Given the description of an element on the screen output the (x, y) to click on. 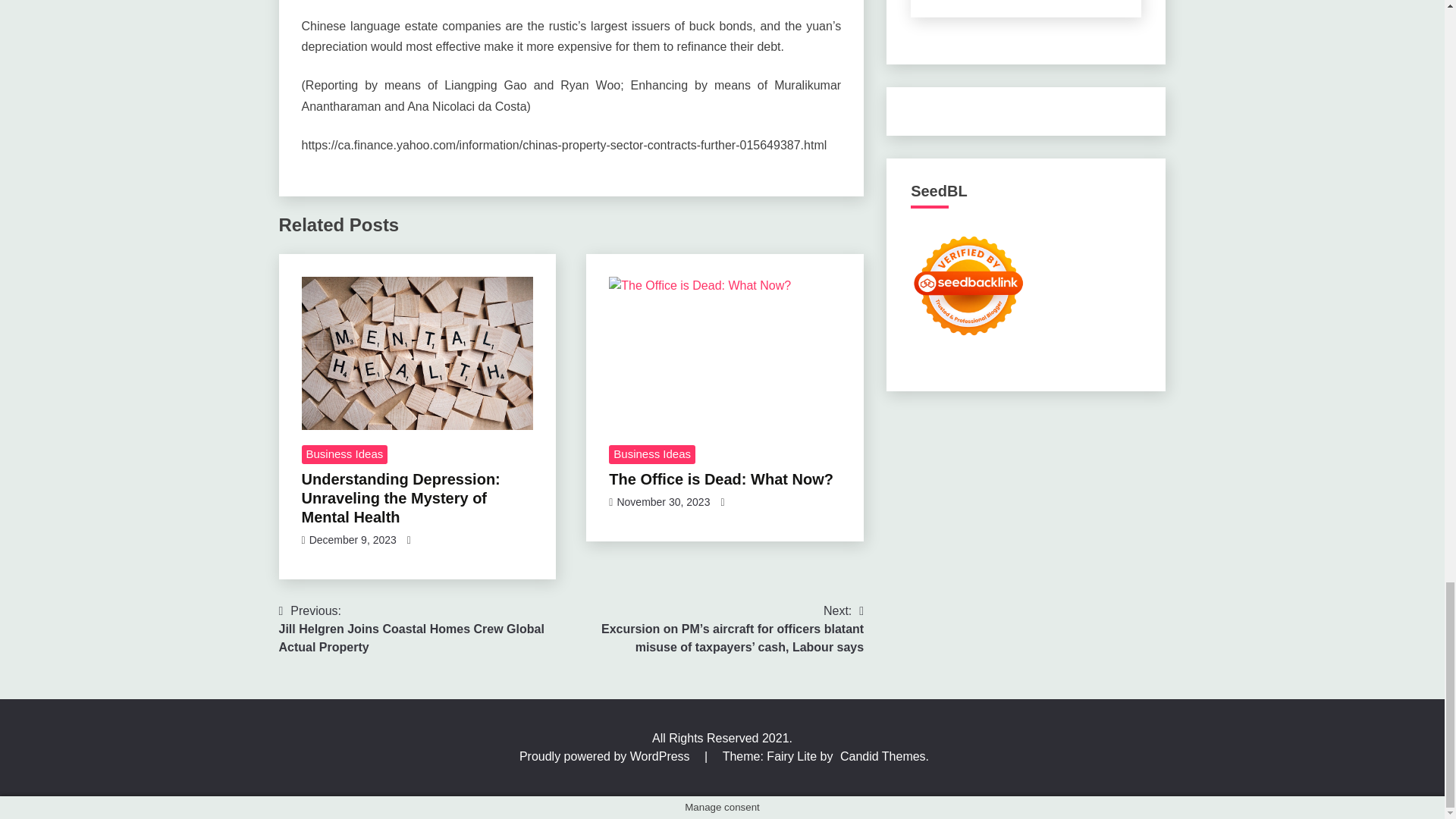
December 9, 2023 (352, 539)
November 30, 2023 (662, 501)
The Office is Dead: What Now? (724, 352)
Seedbacklink (968, 285)
The Office is Dead: What Now? (720, 478)
Business Ideas (651, 455)
Business Ideas (344, 455)
